Given the description of an element on the screen output the (x, y) to click on. 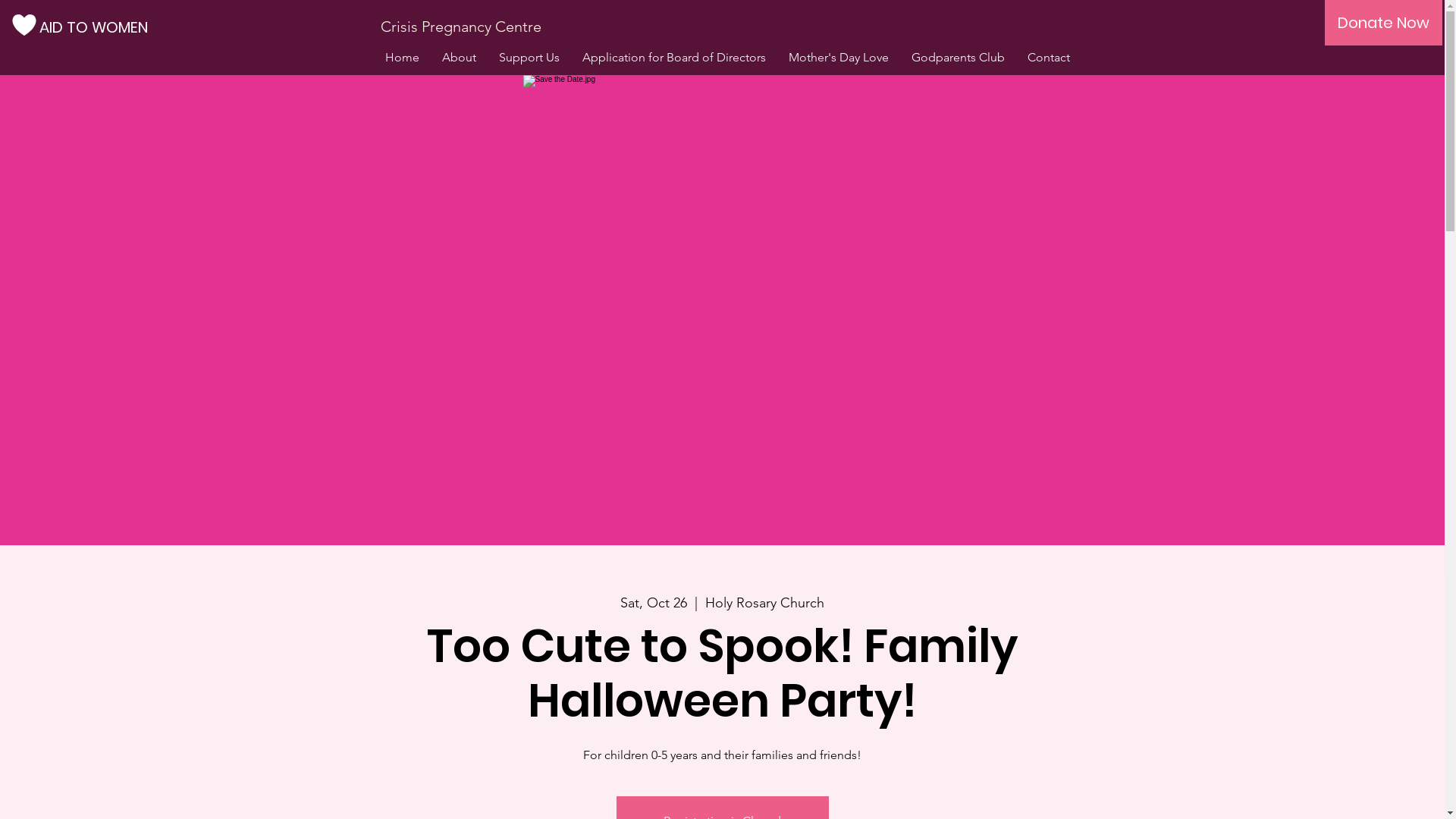
Application for Board of Directors Element type: text (673, 57)
Support Us Element type: text (528, 57)
Donate Now Element type: text (1383, 22)
Godparents Club Element type: text (957, 57)
AID TO WOMEN Element type: text (96, 26)
Home Element type: text (401, 57)
Mother's Day Love Element type: text (837, 57)
Contact Element type: text (1048, 57)
About Element type: text (458, 57)
